Given the description of an element on the screen output the (x, y) to click on. 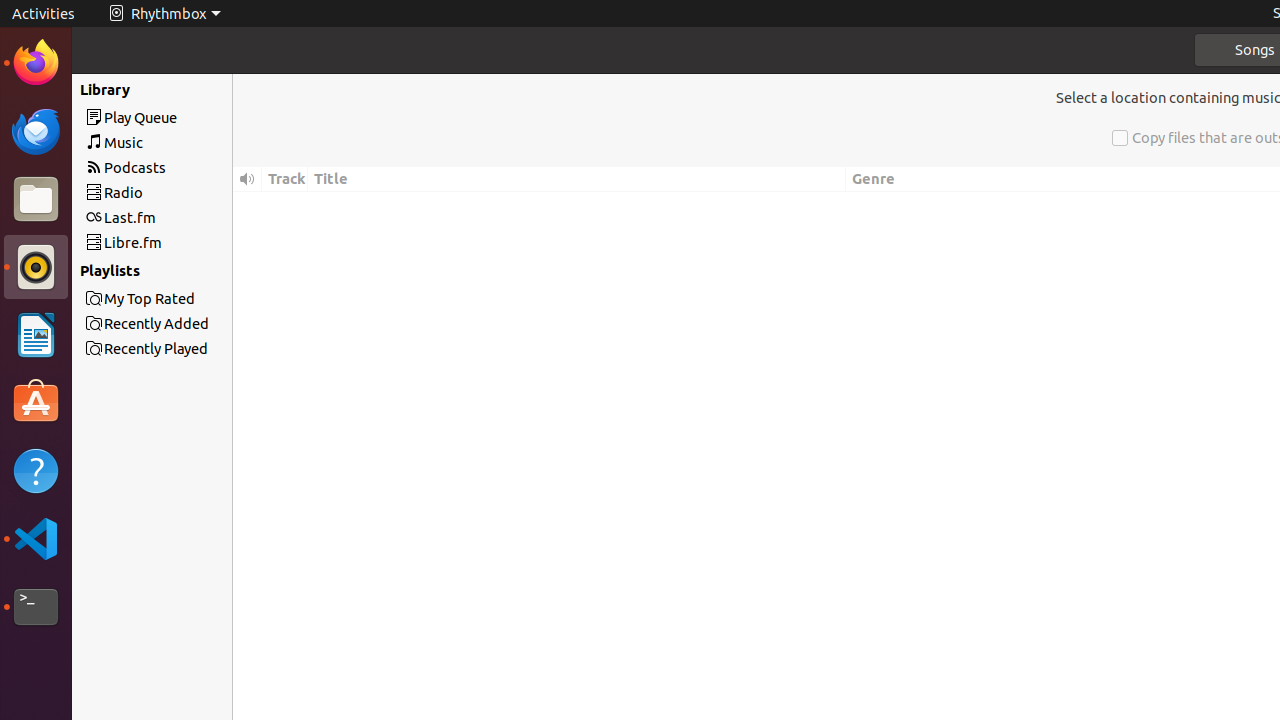
li.txt Element type: label (259, 89)
My Top Rated Element type: table-cell (188, 298)
Recently Played Element type: table-cell (94, 89)
Libre.fm Element type: table-cell (188, 242)
